Given the description of an element on the screen output the (x, y) to click on. 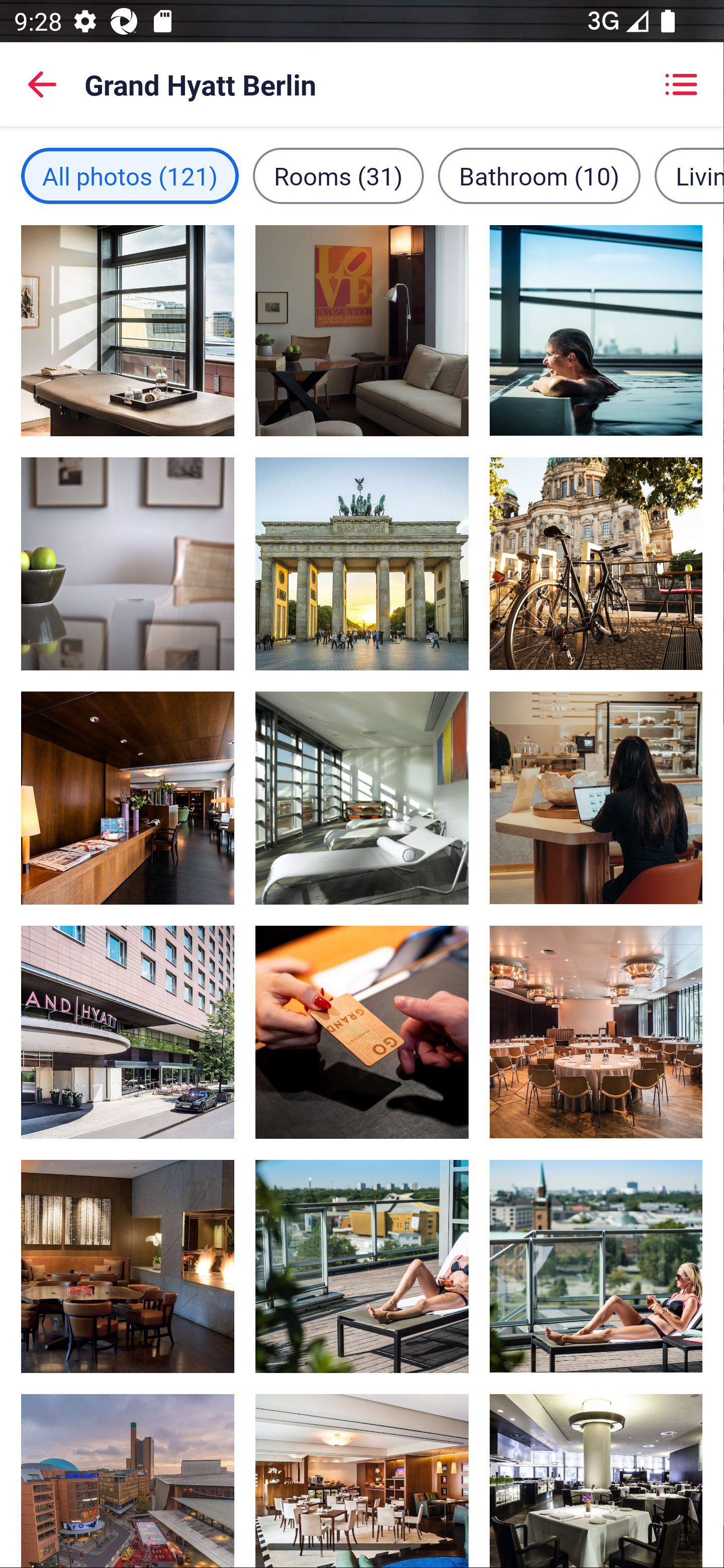
Back (42, 84)
Showing grid view (681, 84)
All photos filter, 121 images (129, 175)
Rooms filter, 31 images (337, 175)
Bathroom filter, 10 images (539, 175)
Living area filter, 12 images (688, 175)
Indoor pool, image (595, 330)
Point of interest, image (361, 564)
Bicycling, image (595, 563)
Bar (on property), image (127, 797)
2 restaurants, Asian cuisine, image (595, 797)
Exterior, image (127, 1031)
Lobby, image (361, 1031)
Lobby, image (595, 1031)
2 restaurants, Asian cuisine, image (127, 1266)
Sundeck, image (595, 1266)
Exterior, image (127, 1459)
Bar (on property), image (361, 1459)
2 restaurants, Asian cuisine, image (595, 1459)
